Given the description of an element on the screen output the (x, y) to click on. 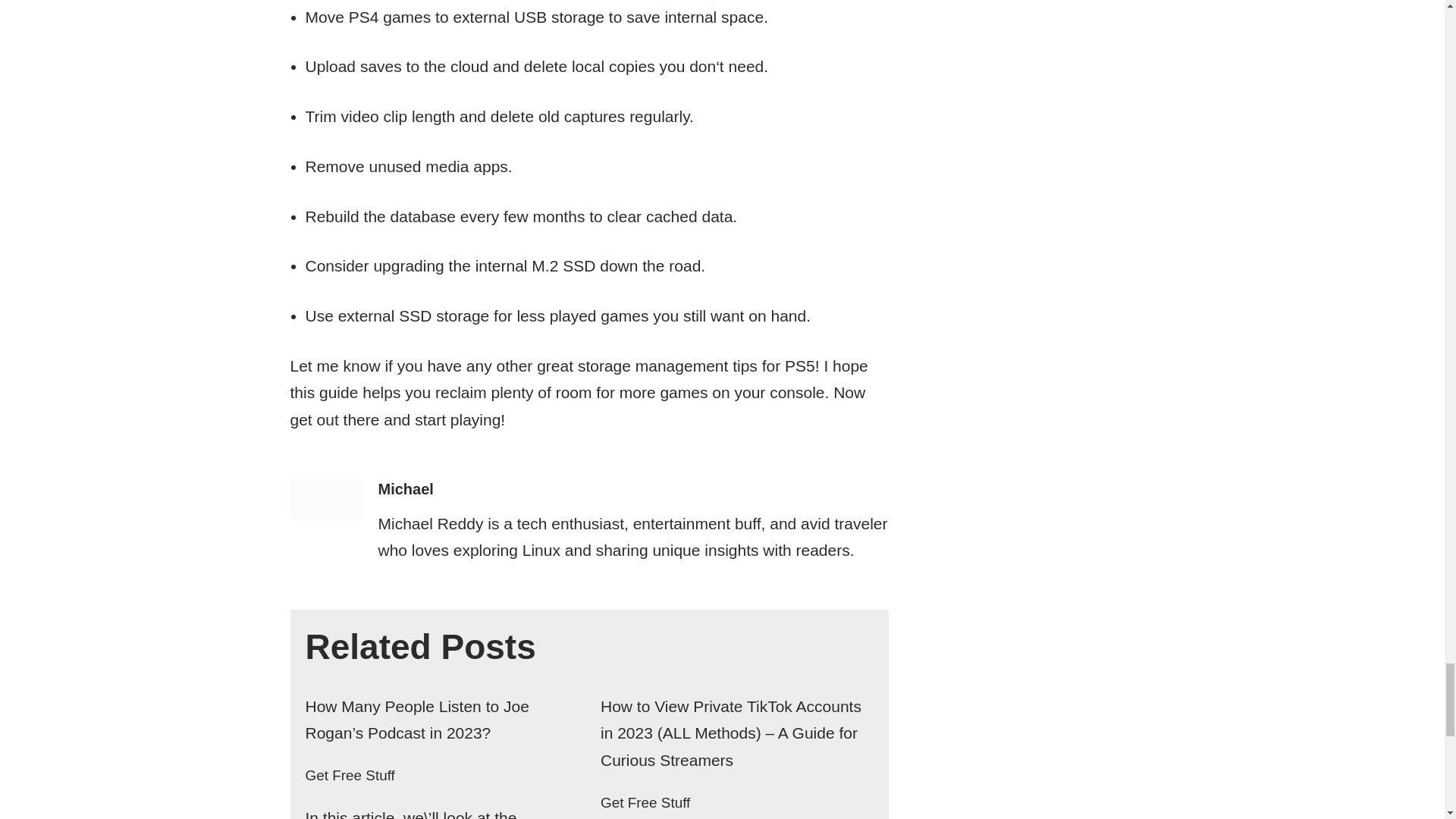
Get Free Stuff (349, 774)
Get Free Stuff (644, 802)
